Given the description of an element on the screen output the (x, y) to click on. 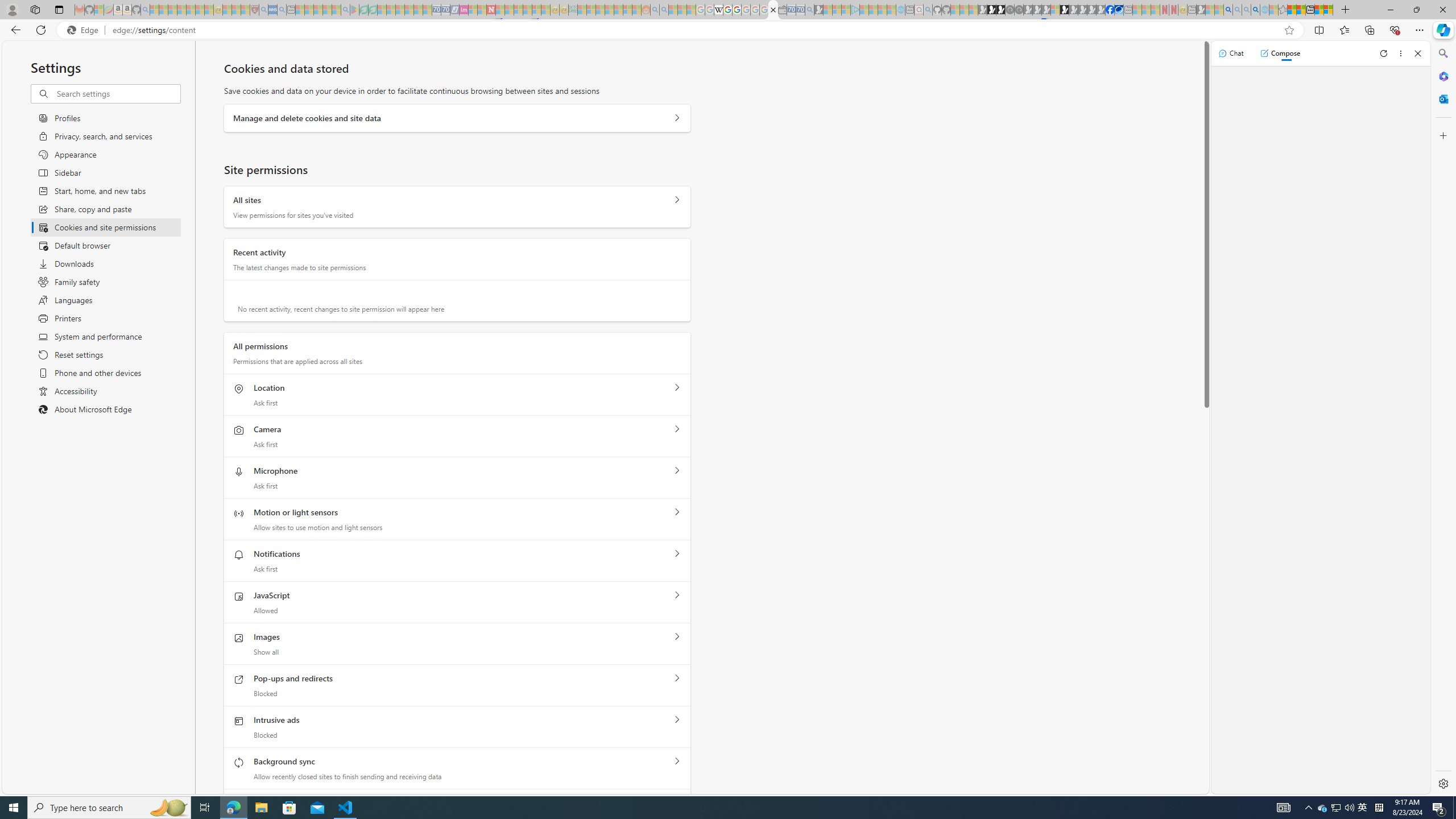
Background sync (676, 761)
Pop-ups and redirects (676, 678)
Play Zoo Boom in your browser | Games from Microsoft Start (991, 9)
